Given the description of an element on the screen output the (x, y) to click on. 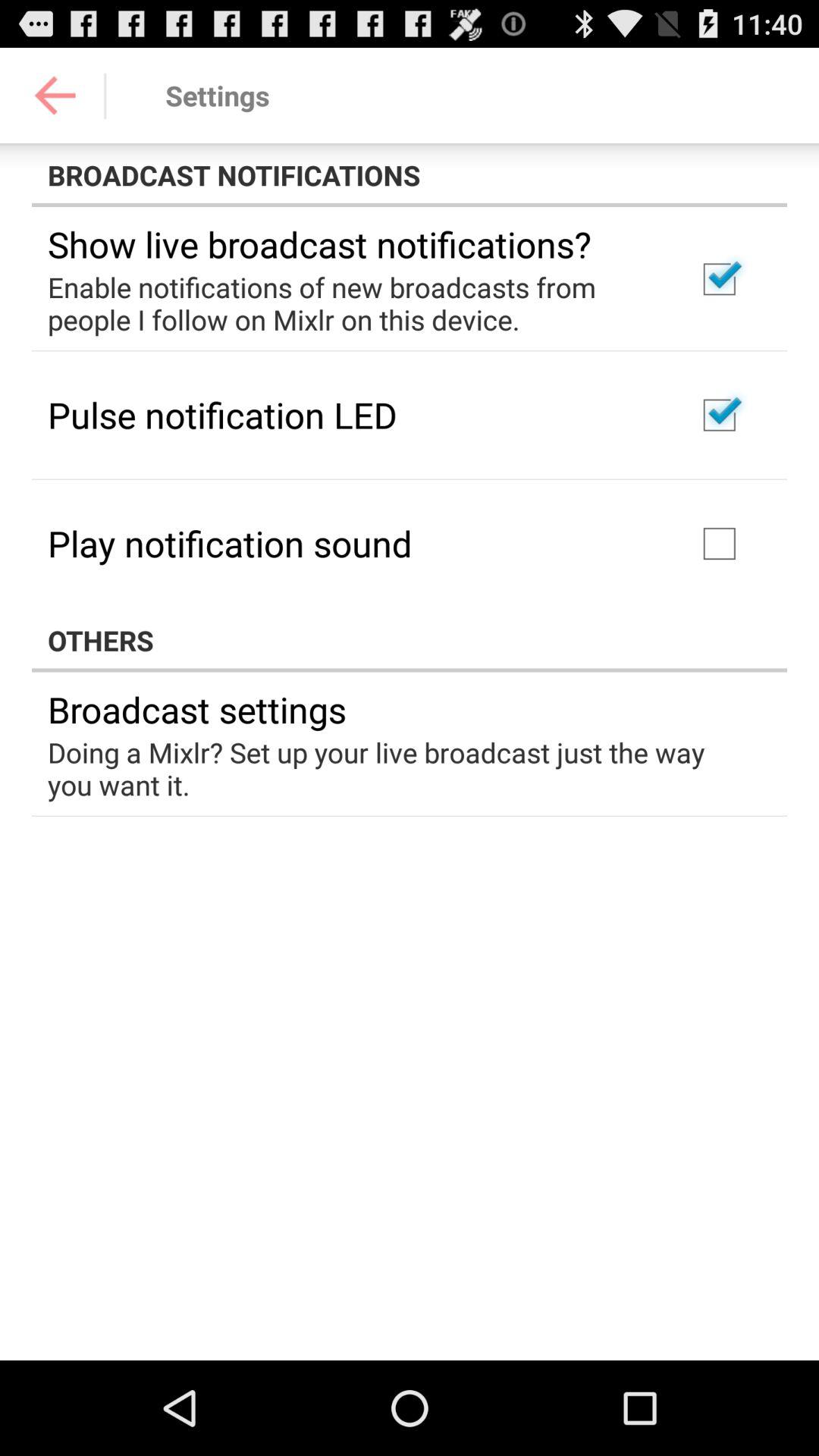
select the icon above the broadcast settings item (409, 640)
